Given the description of an element on the screen output the (x, y) to click on. 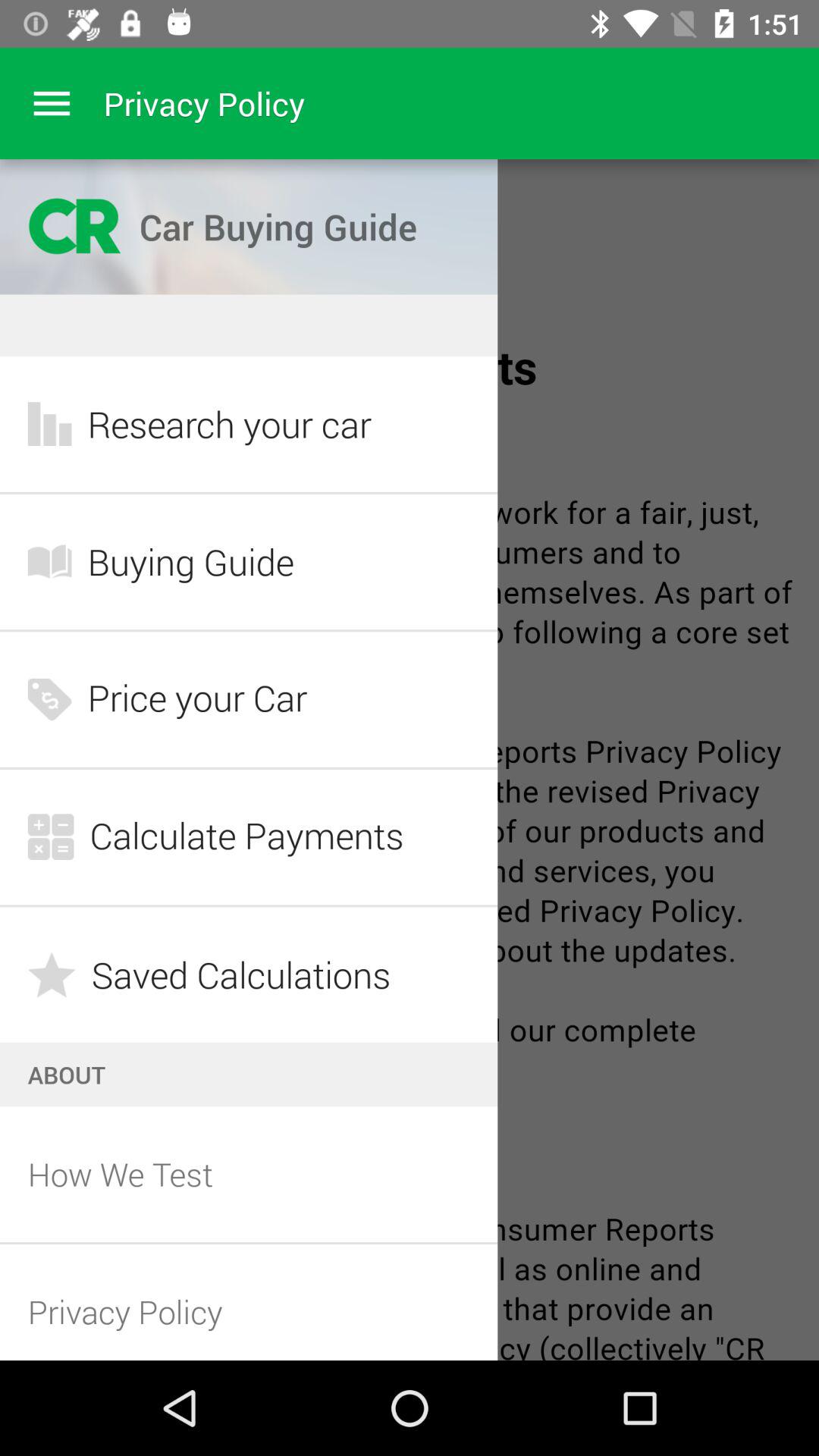
close menu (51, 103)
